Given the description of an element on the screen output the (x, y) to click on. 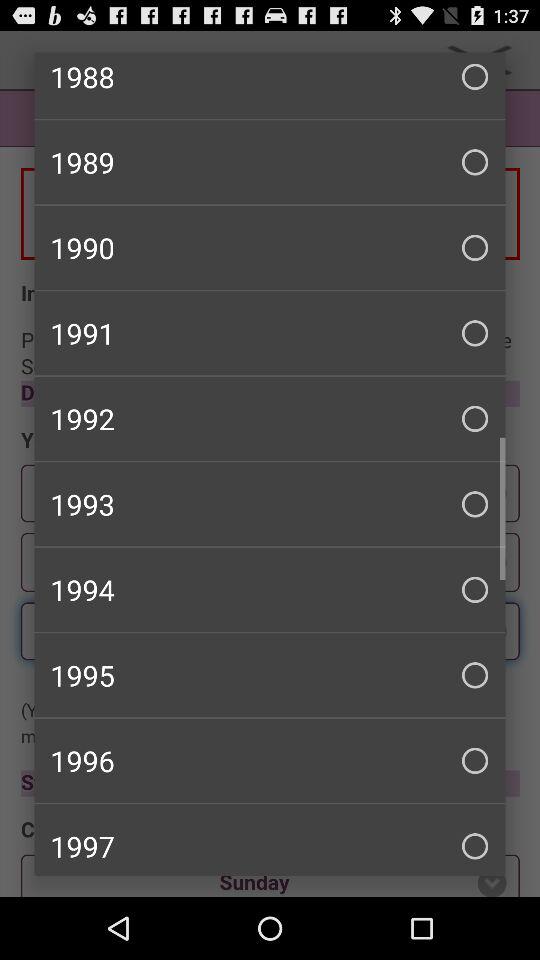
select the 1995 icon (269, 675)
